Given the description of an element on the screen output the (x, y) to click on. 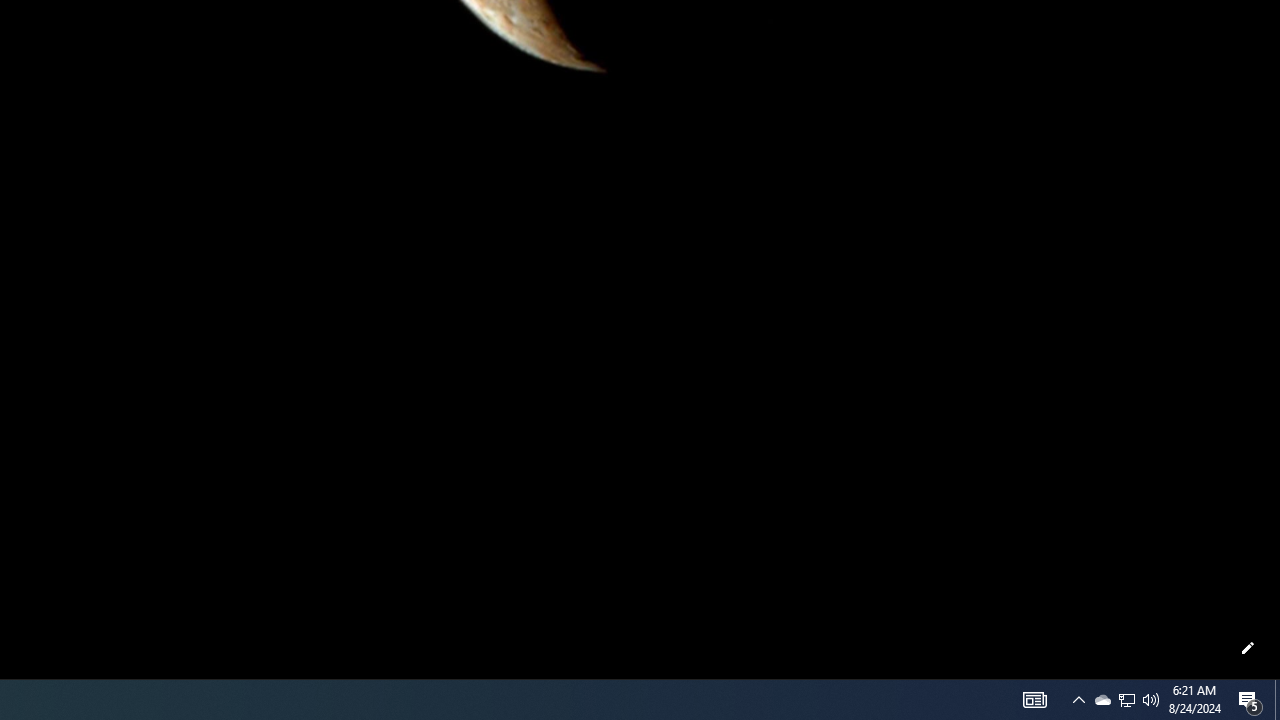
Customize this page (1247, 647)
